Given the description of an element on the screen output the (x, y) to click on. 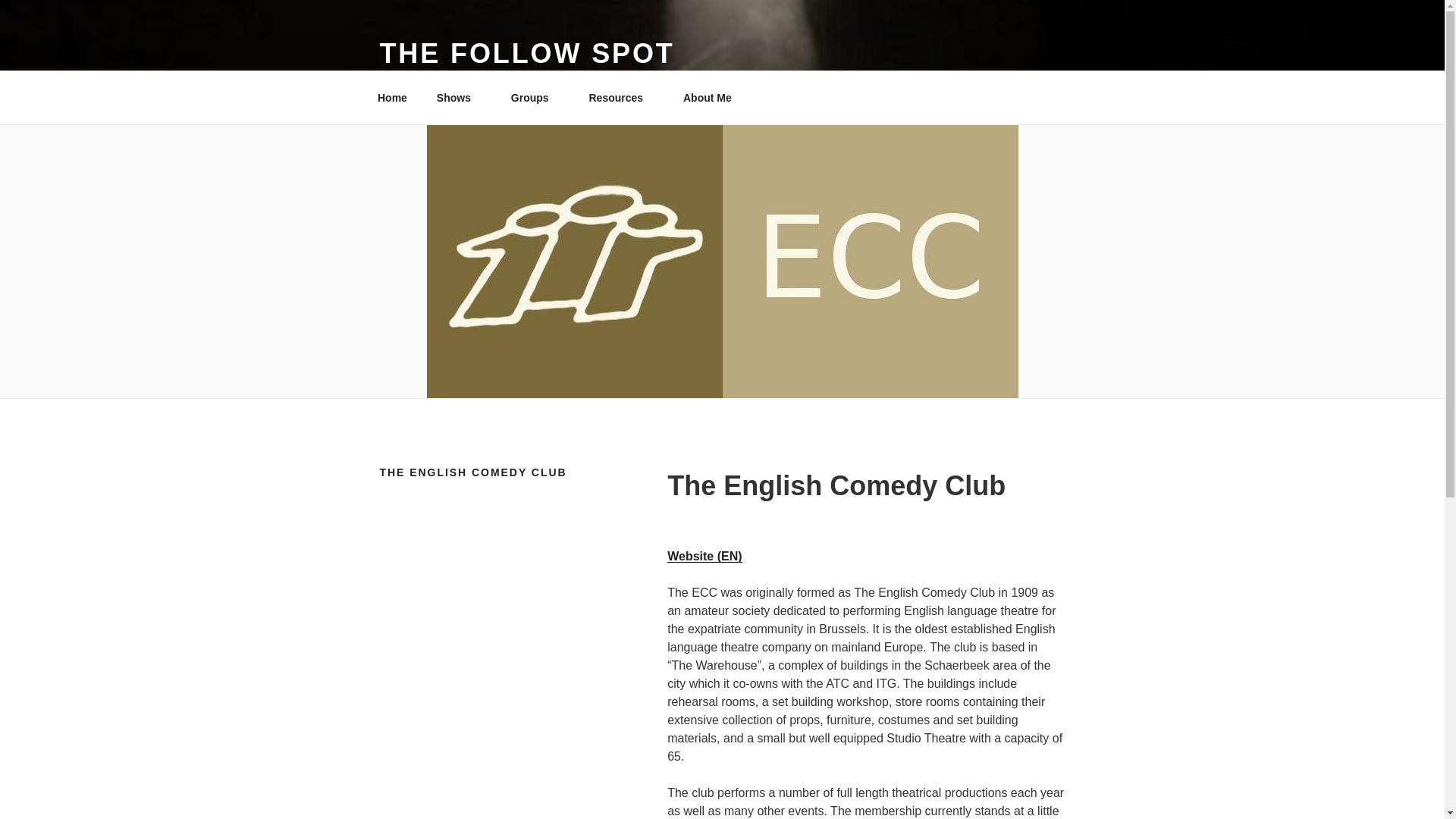
Shows (459, 97)
Home (392, 97)
THE FOLLOW SPOT (526, 52)
